Given the description of an element on the screen output the (x, y) to click on. 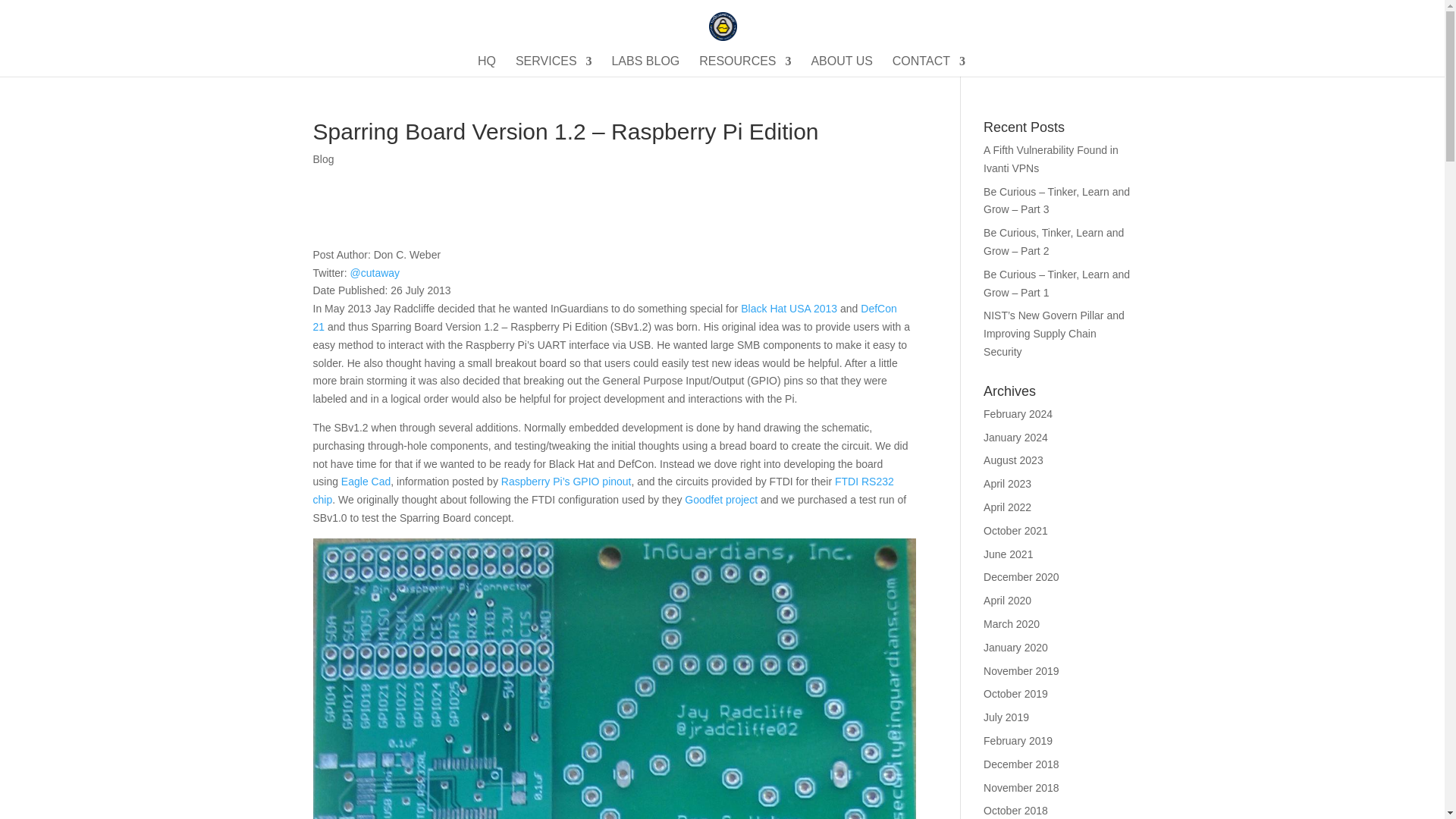
RESOURCES (744, 66)
ABOUT US (841, 66)
LABS BLOG (645, 66)
HQ (486, 66)
CONTACT (928, 66)
SERVICES (553, 66)
